Given the description of an element on the screen output the (x, y) to click on. 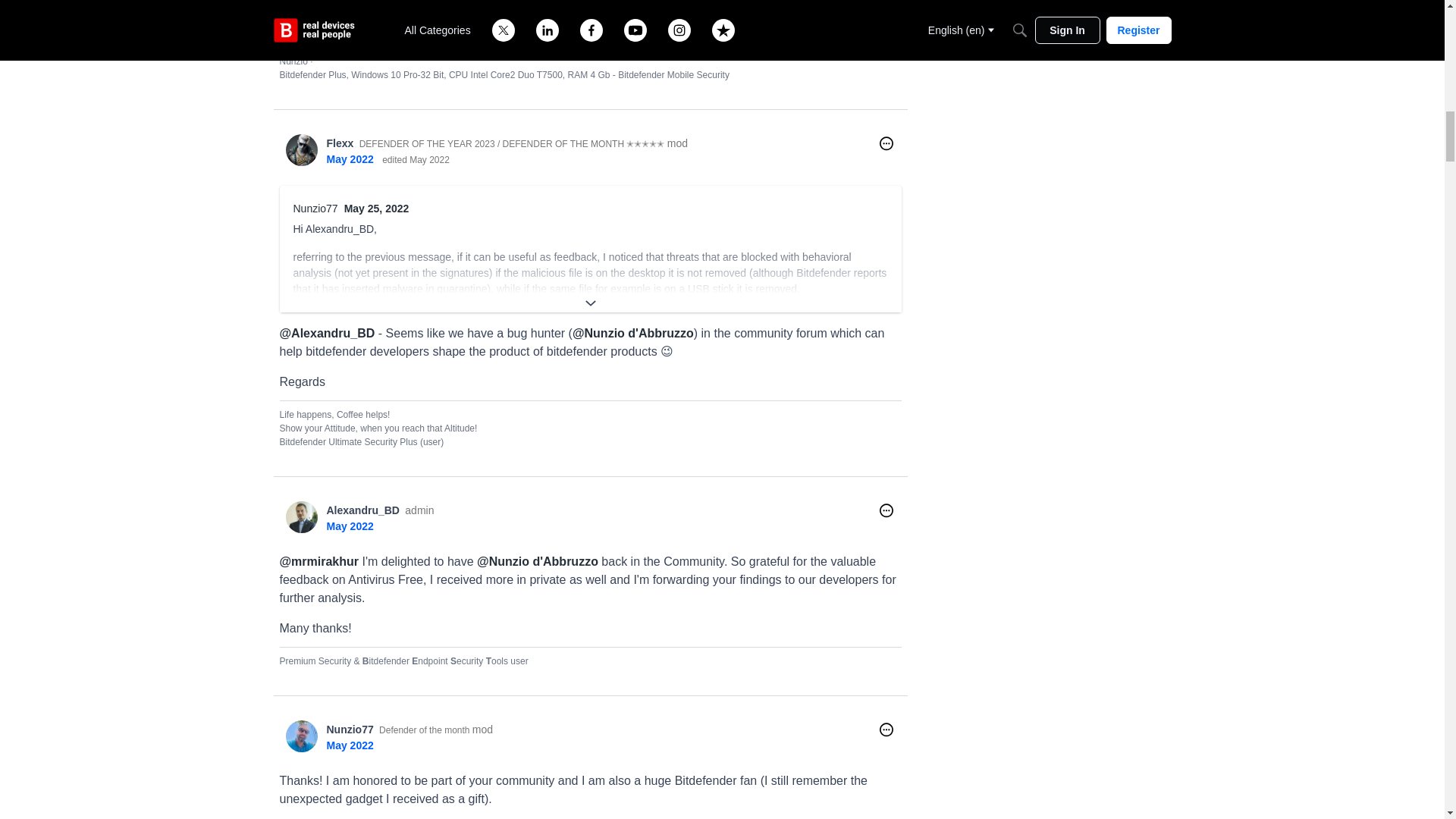
Nunzio77 (314, 208)
May 25, 2022 (376, 208)
Flexx (339, 143)
May 2022 (349, 159)
